Given the description of an element on the screen output the (x, y) to click on. 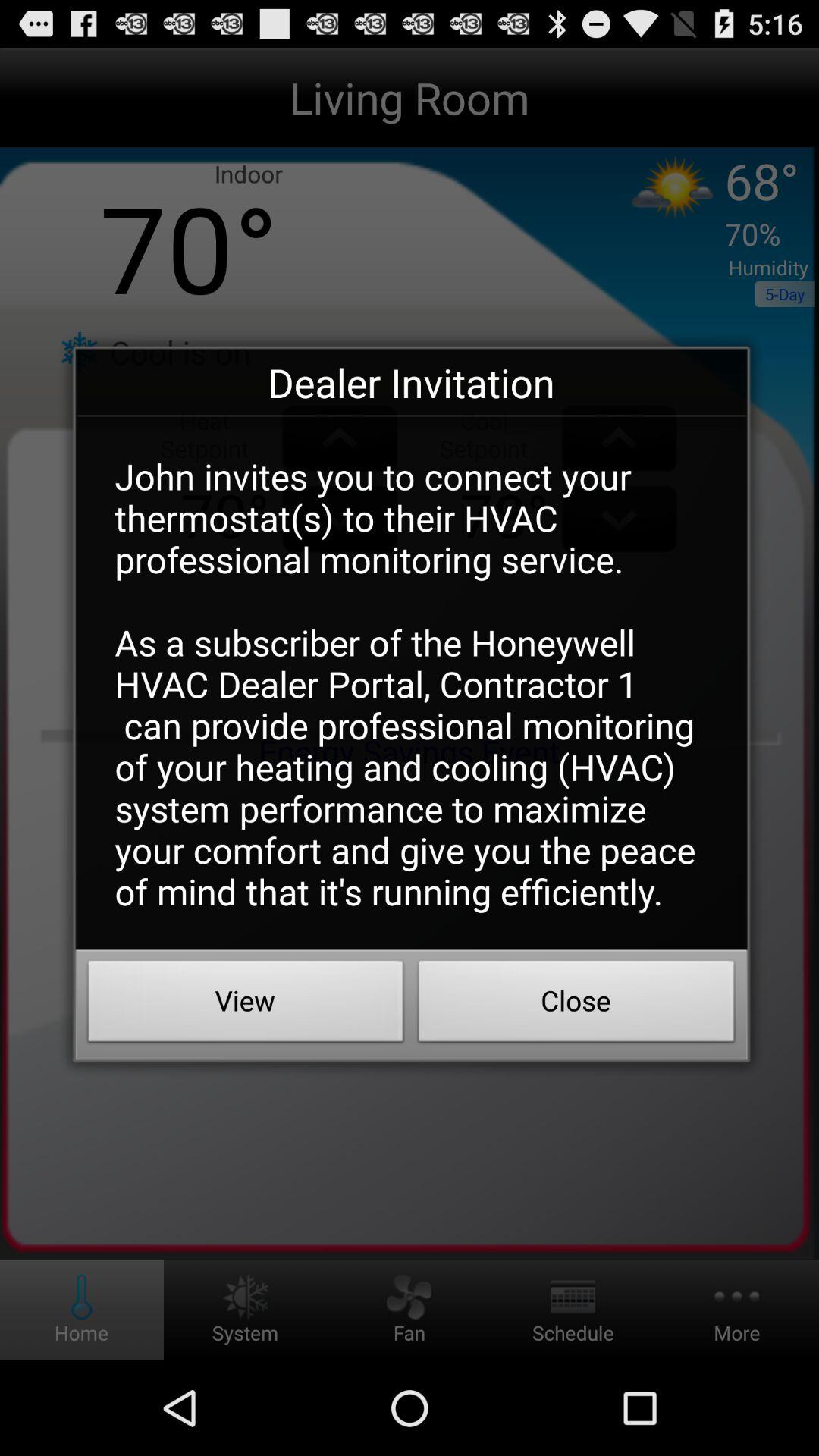
turn on icon next to the close icon (245, 1005)
